Given the description of an element on the screen output the (x, y) to click on. 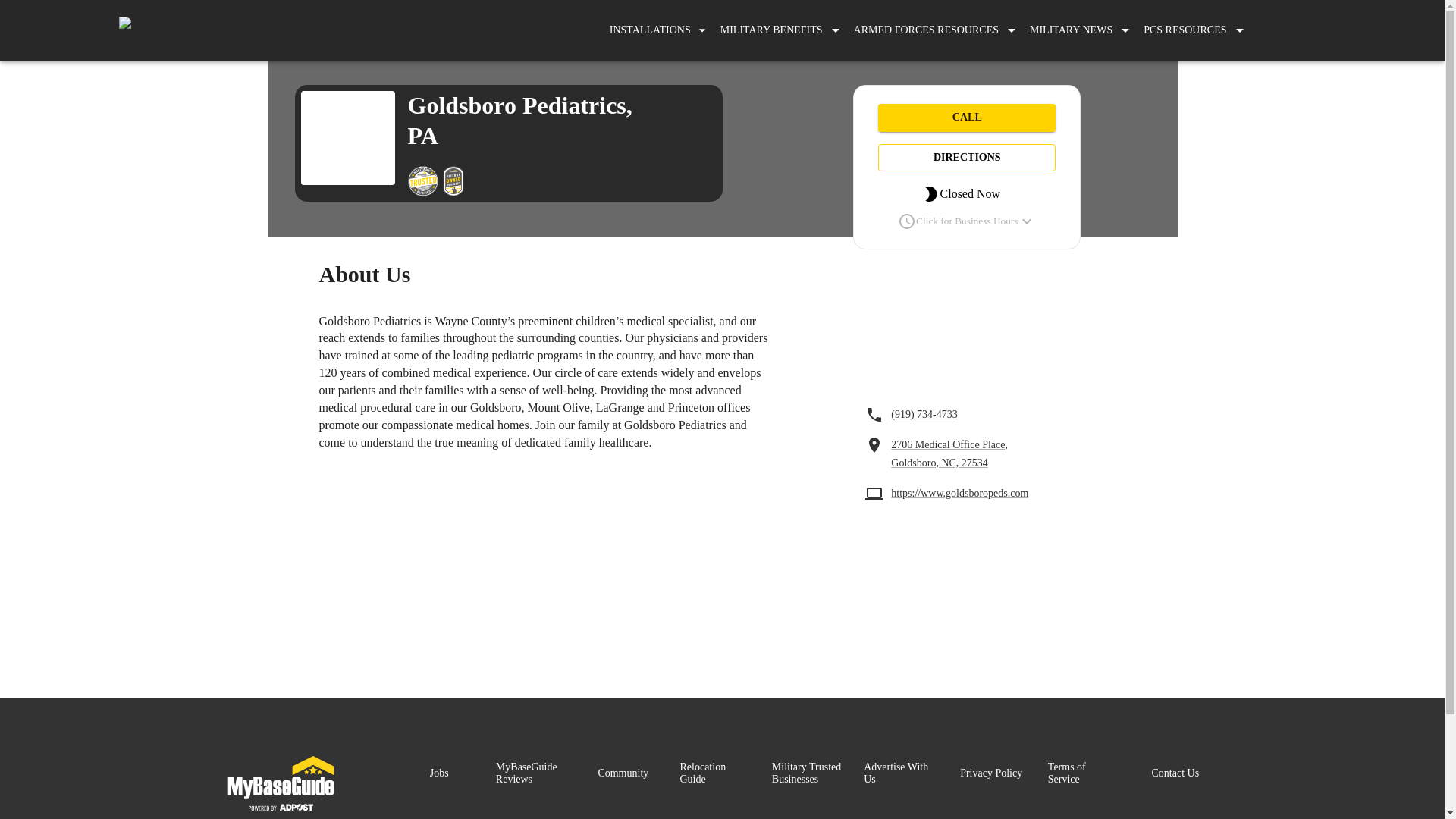
Click for Business Hours (966, 221)
MILITARY BENEFITS (771, 30)
google map of current business (966, 330)
INSTALLATIONS (658, 30)
CALL (966, 117)
DIRECTIONS (966, 157)
ARMED FORCES RESOURCES (925, 30)
MILITARY NEWS (1070, 30)
PCS RESOURCES (1184, 30)
2706 Medical Office Place, Goldsboro, NC, 27534 (953, 453)
